Given the description of an element on the screen output the (x, y) to click on. 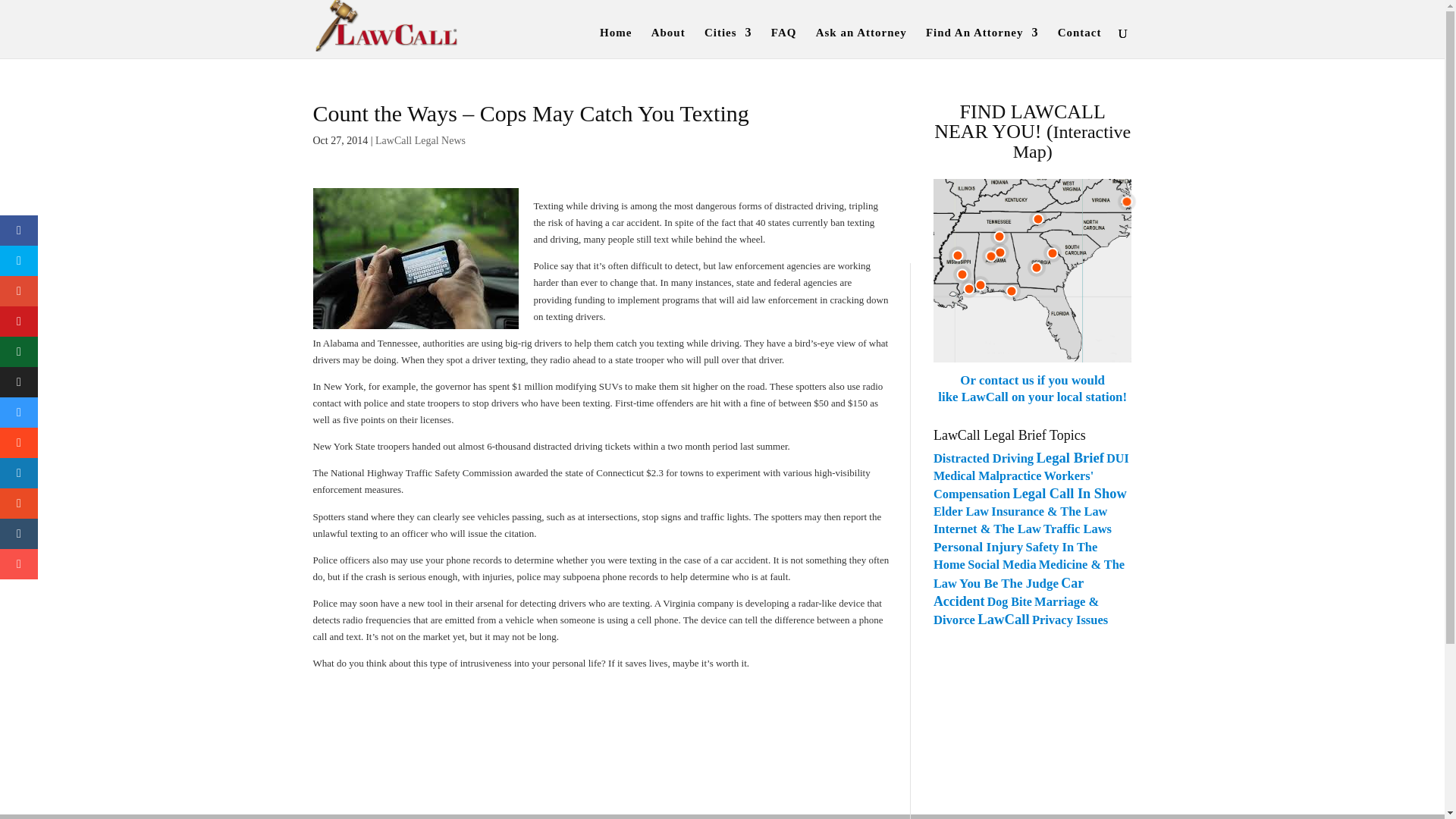
Ask an Attorney (861, 42)
Find An Attorney (982, 42)
Home (615, 42)
Cities (728, 42)
Contact (1080, 42)
About (667, 42)
